Given the description of an element on the screen output the (x, y) to click on. 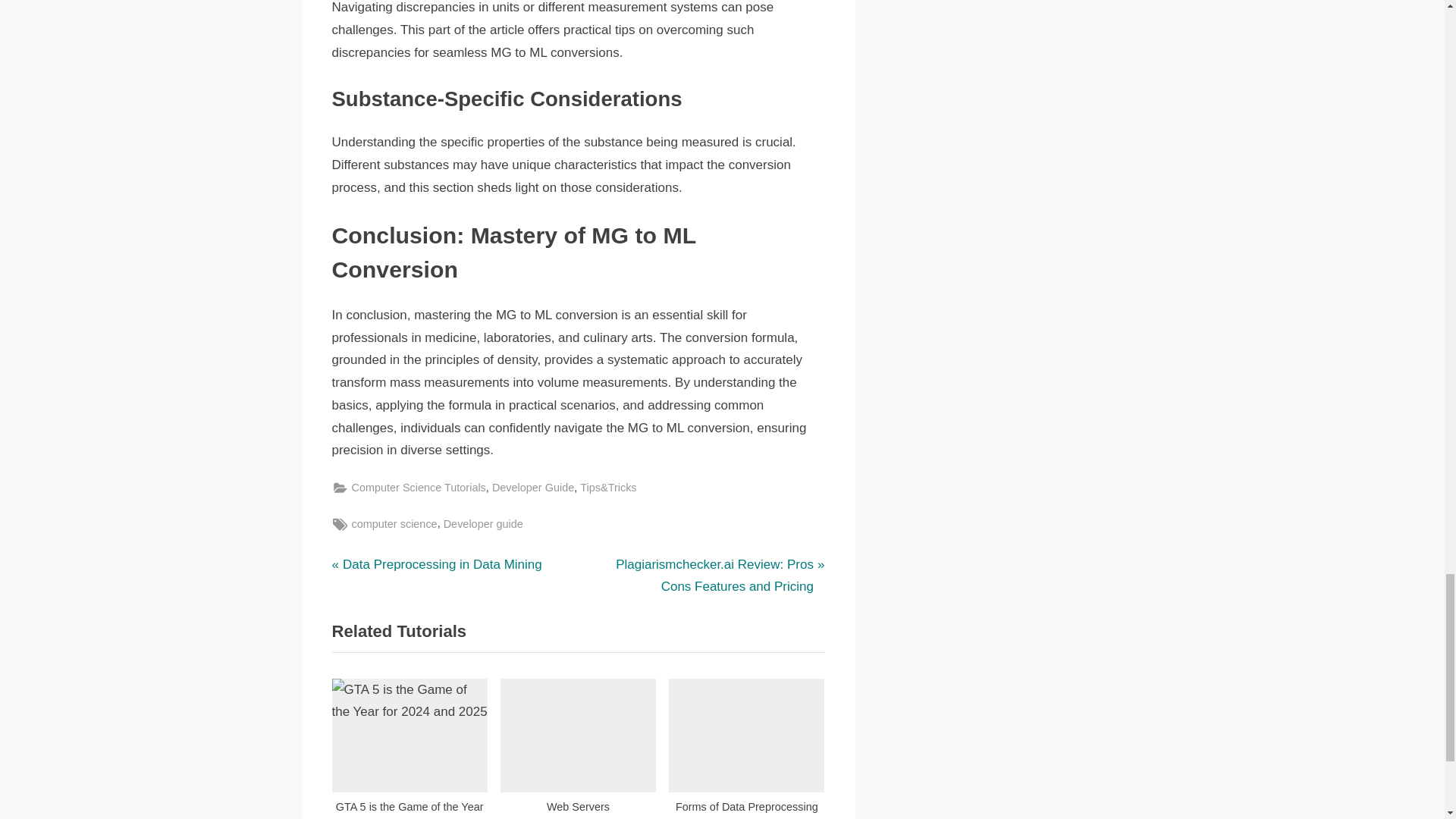
computer science (395, 524)
Computer Science Tutorials (419, 487)
Developer guide (483, 524)
Developer Guide (532, 487)
GTA 5 is the Game of the Year for 2024 and 2025 (409, 748)
